Given the description of an element on the screen output the (x, y) to click on. 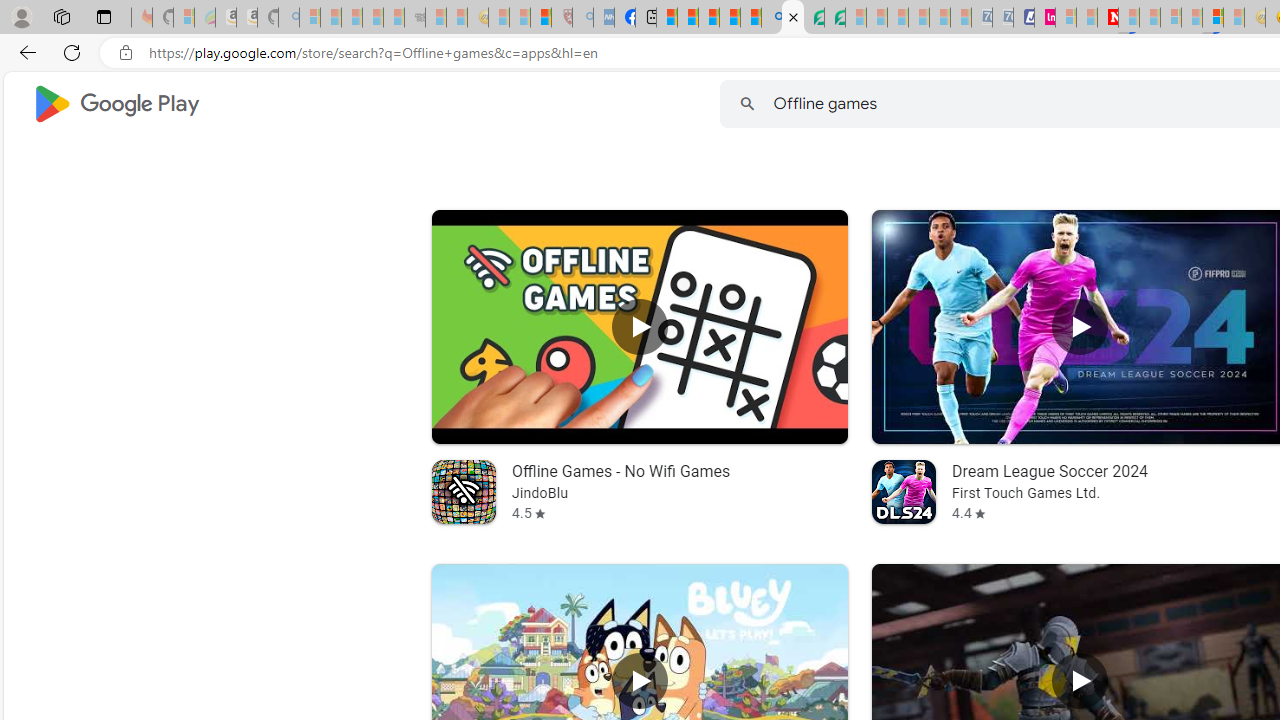
14 Common Myths Debunked By Scientific Facts - Sleeping (1149, 17)
Jobs - lastminute.com Investor Portal (1044, 17)
Microsoft Start (708, 17)
New Report Confirms 2023 Was Record Hot | Watch - Sleeping (394, 17)
Microsoft Start - Sleeping (1086, 17)
Combat Siege (414, 17)
View site information (125, 53)
